Given the description of an element on the screen output the (x, y) to click on. 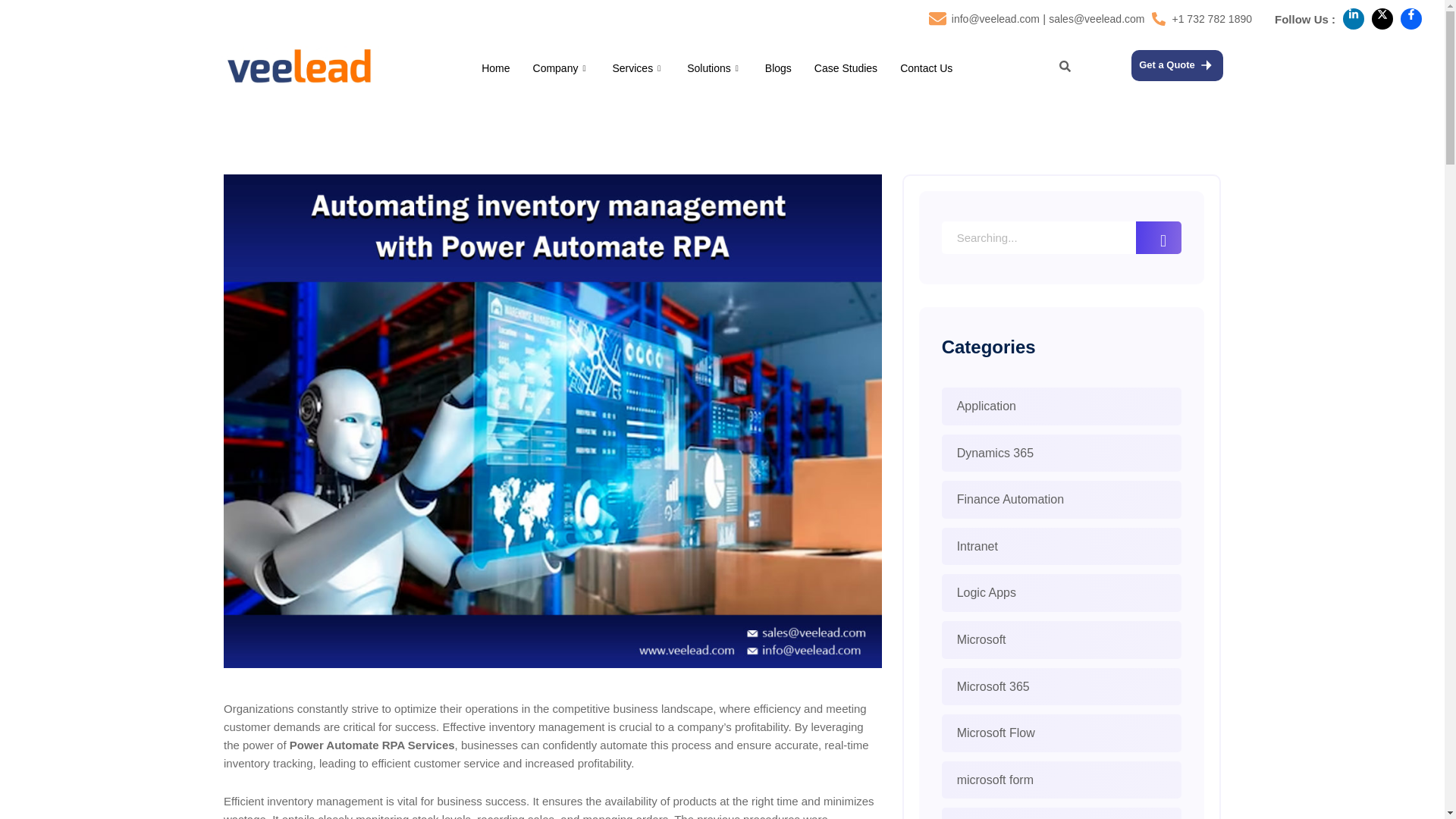
Services (637, 67)
Company (561, 67)
search-button (1064, 66)
